Given the description of an element on the screen output the (x, y) to click on. 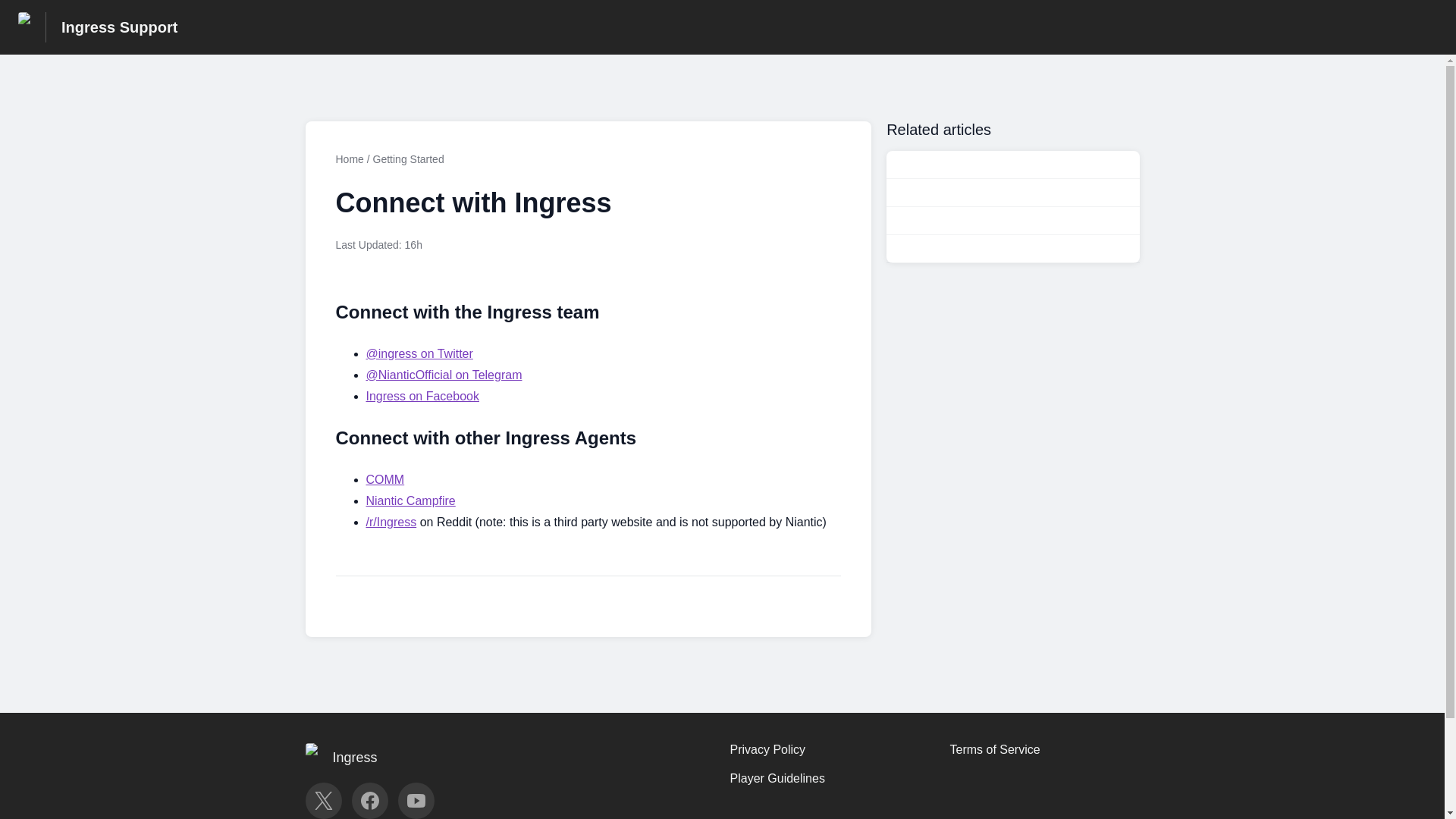
Getting Started (408, 159)
Ingress (347, 757)
COMM (384, 479)
Niantic Campfire (409, 500)
Ingress Support (119, 27)
Ingress on Facebook (422, 396)
Privacy Policy (767, 748)
Home (348, 159)
Player Guidelines (776, 778)
Terms of Service (994, 748)
